Given the description of an element on the screen output the (x, y) to click on. 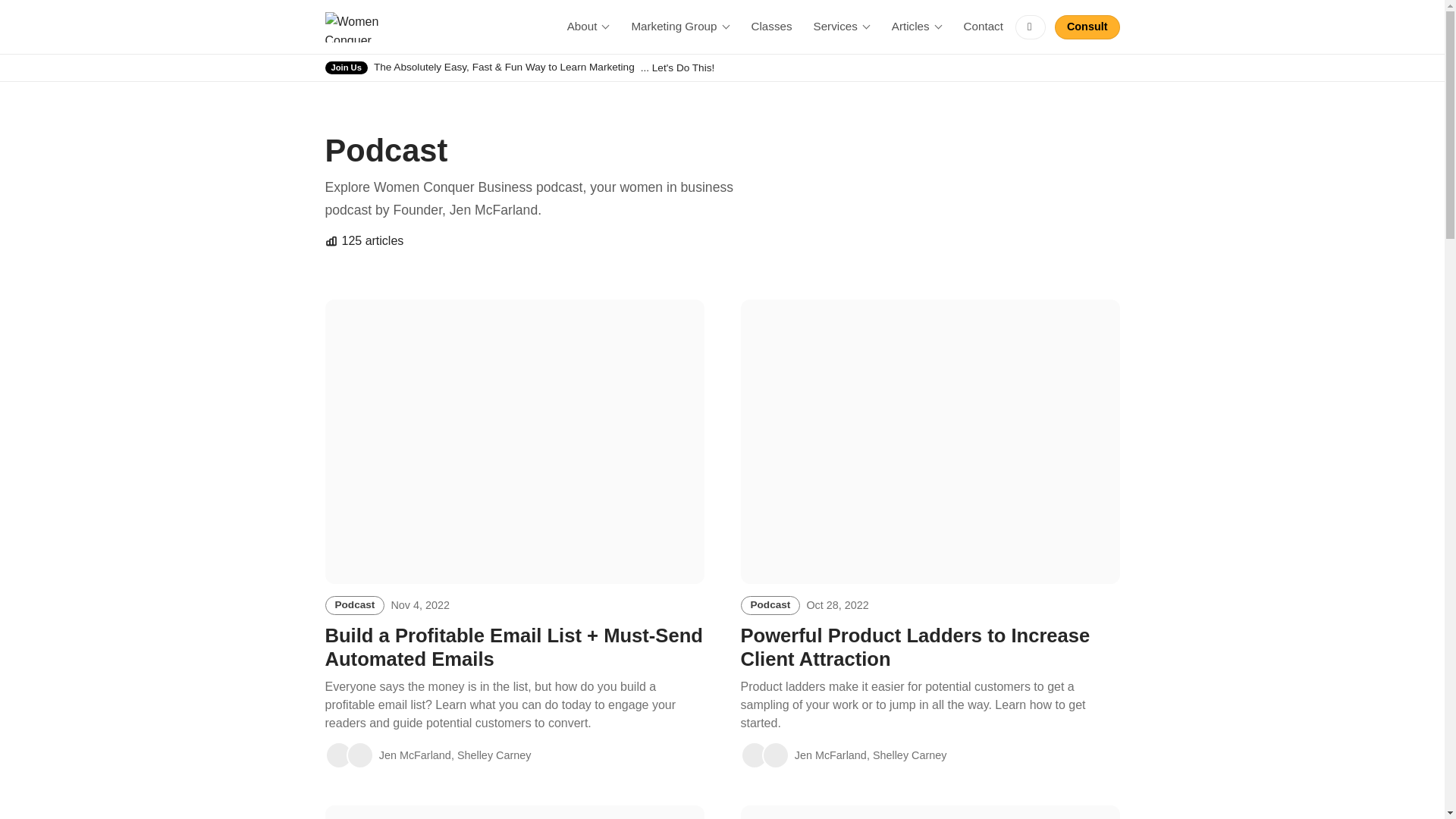
Shelley Carney (359, 755)
Articles (1086, 27)
Contact (917, 27)
Classes (983, 27)
About (772, 27)
Jen McFarland (588, 27)
Marketing Group (753, 755)
Jen McFarland (679, 27)
Shelley Carney (338, 755)
